Given the description of an element on the screen output the (x, y) to click on. 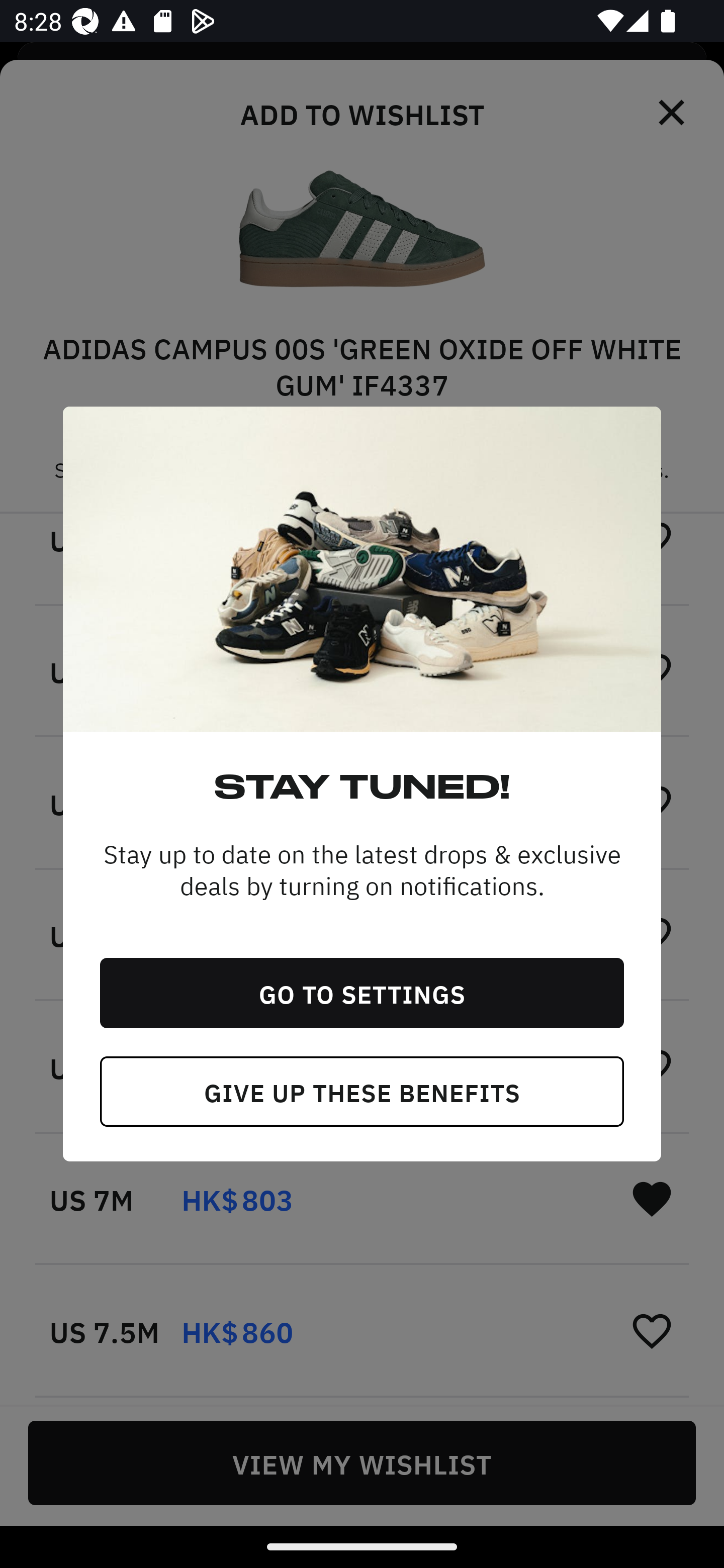
GO TO SETTINGS (361, 993)
GIVE UP THESE BENEFITS (361, 1091)
